Given the description of an element on the screen output the (x, y) to click on. 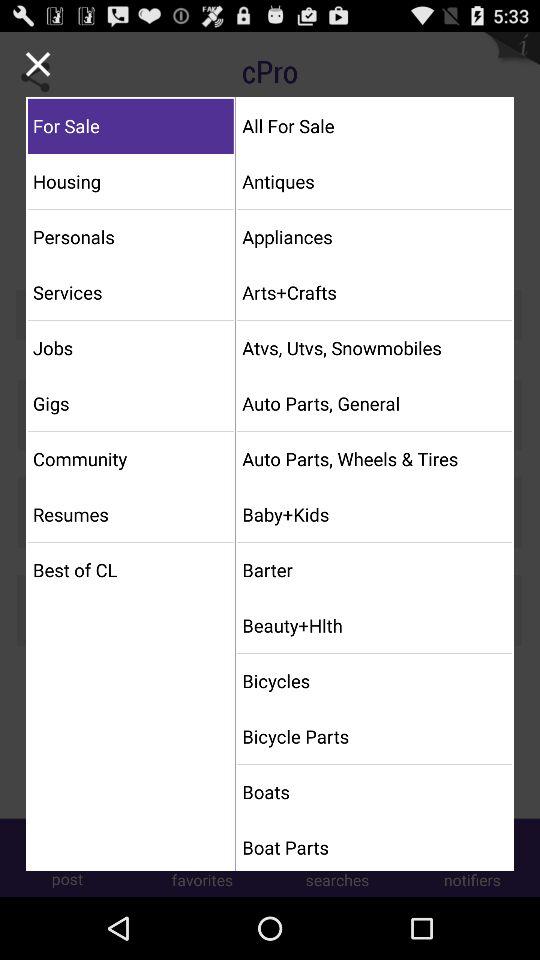
jump to the boats item (374, 791)
